Given the description of an element on the screen output the (x, y) to click on. 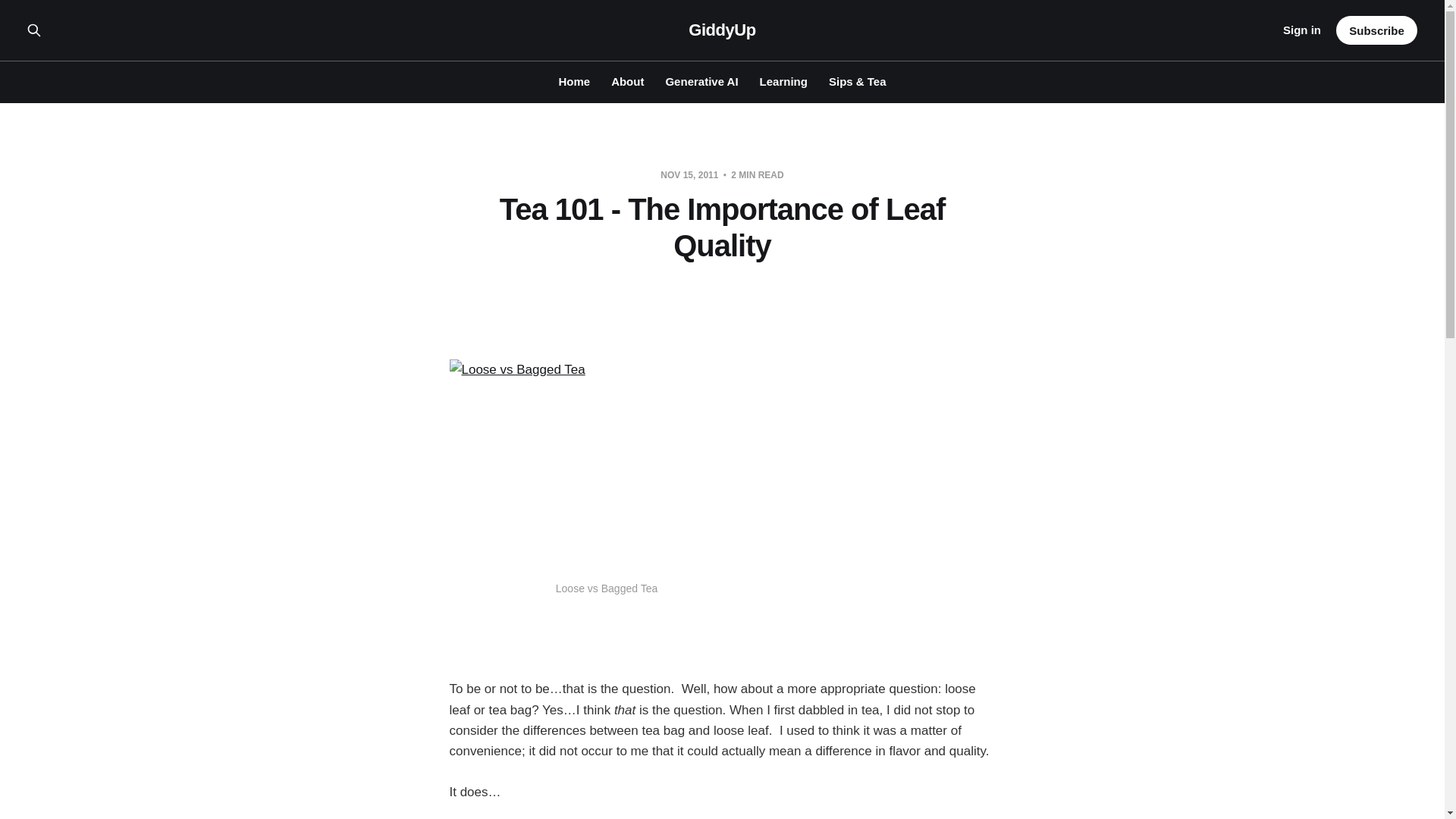
Sign in (1301, 30)
About (627, 81)
Loose vs Bagged Tea (605, 464)
Generative AI (701, 81)
Subscribe (1376, 30)
GiddyUp (721, 30)
Learning (784, 81)
Home (573, 81)
